Given the description of an element on the screen output the (x, y) to click on. 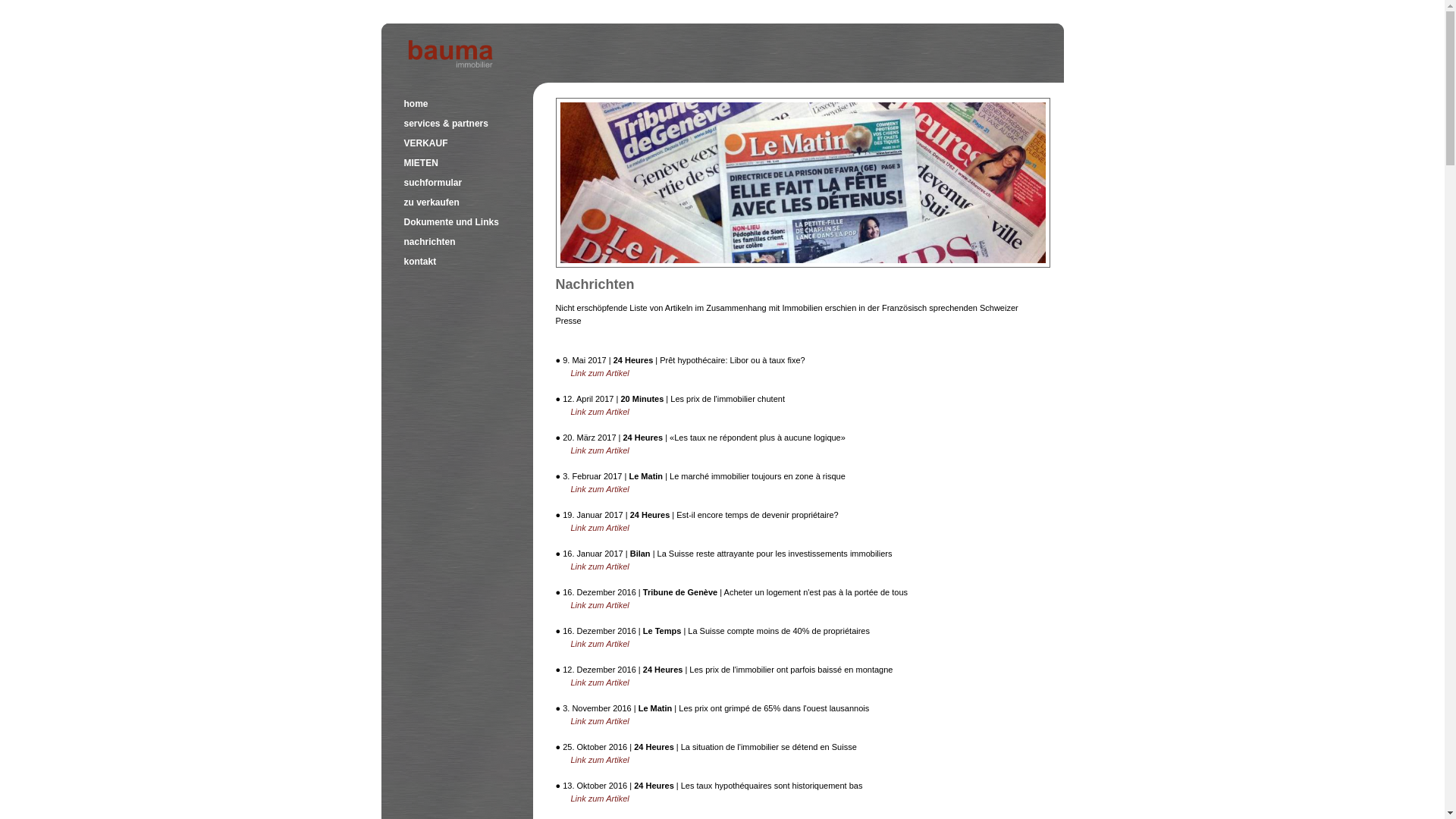
zu verkaufen Element type: text (430, 202)
Link zum Artikel Element type: text (599, 527)
Link zum Artikel Element type: text (599, 372)
VERKAUF Element type: text (425, 143)
nachrichten Element type: text (429, 241)
Link zum Artikel Element type: text (599, 604)
services & partners Element type: text (445, 123)
suchformular Element type: text (432, 182)
Link zum Artikel Element type: text (599, 759)
home Element type: text (415, 103)
Link zum Artikel Element type: text (599, 643)
Link zum Artikel Element type: text (599, 720)
Link zum Artikel Element type: text (599, 566)
Link zum Artikel Element type: text (599, 798)
MIETEN Element type: text (420, 162)
Link zum Artikel Element type: text (599, 682)
Link zum Artikel Element type: text (599, 450)
Dokumente und Links Element type: text (450, 221)
Link zum Artikel Element type: text (599, 488)
Link zum Artikel Element type: text (599, 411)
kontakt Element type: text (419, 261)
